Given the description of an element on the screen output the (x, y) to click on. 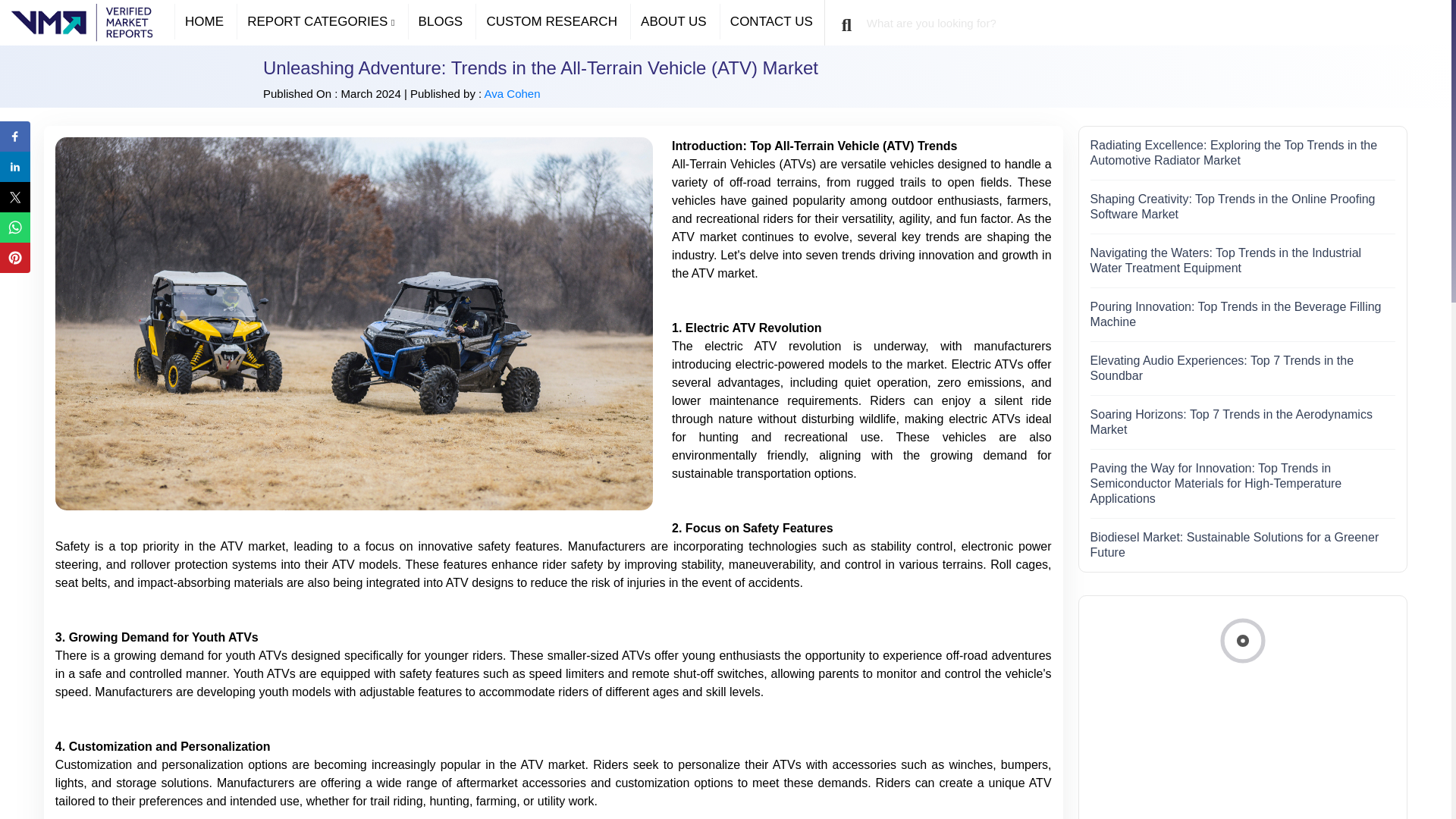
Soaring Horizons: Top 7 Trends in the Aerodynamics Market (1231, 421)
BLOGS (440, 21)
ABOUT US (673, 21)
REPORT CATEGORIES (320, 21)
HOME (203, 21)
CUSTOM RESEARCH (551, 21)
Biodiesel Market: Sustainable Solutions for a Greener Future (1234, 544)
Ava Cohen (512, 92)
Elevating Audio Experiences: Top 7 Trends in the Soundbar (1222, 367)
CONTACT US (771, 21)
